Given the description of an element on the screen output the (x, y) to click on. 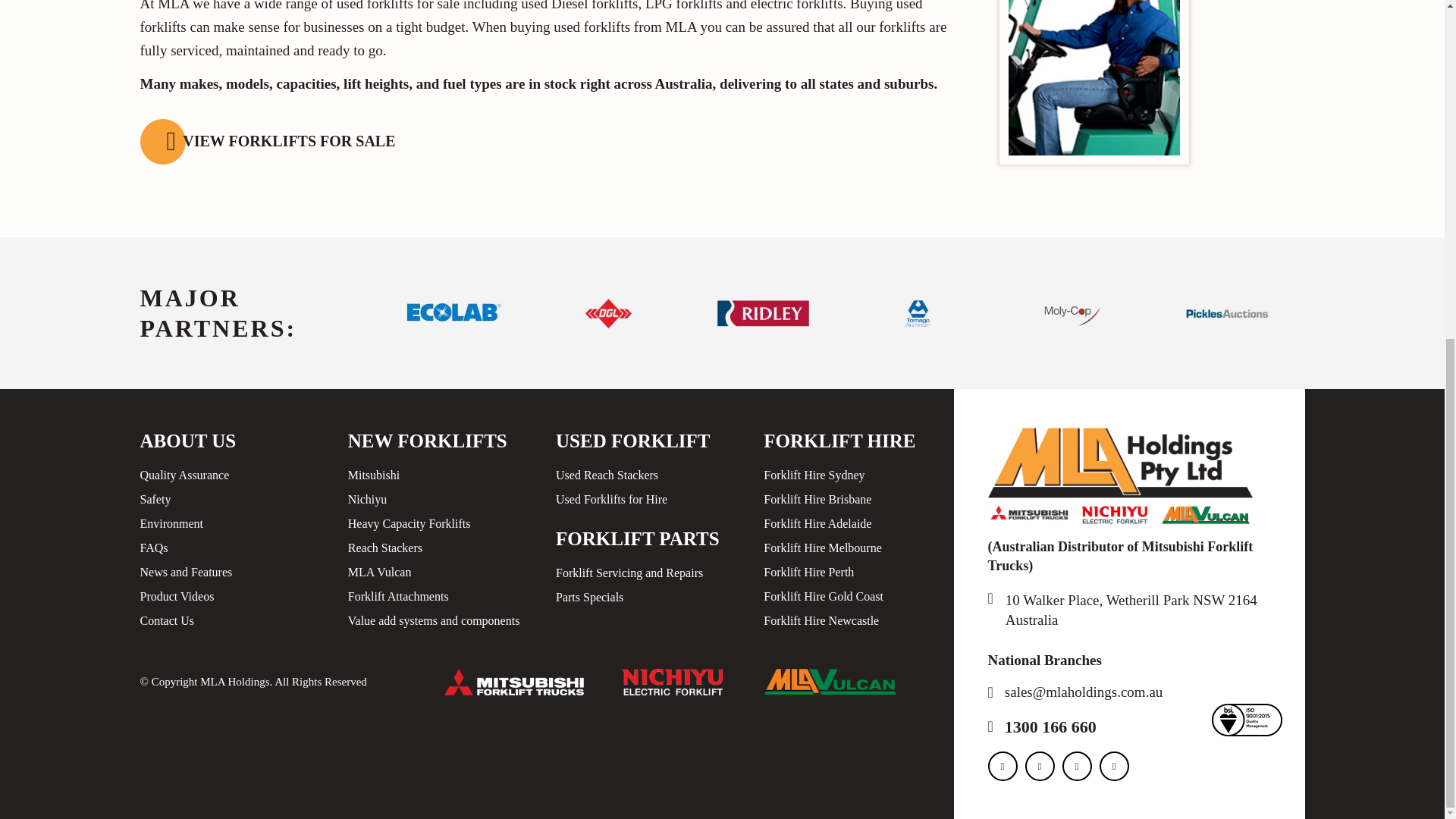
Used Forklifts (1093, 82)
